Given the description of an element on the screen output the (x, y) to click on. 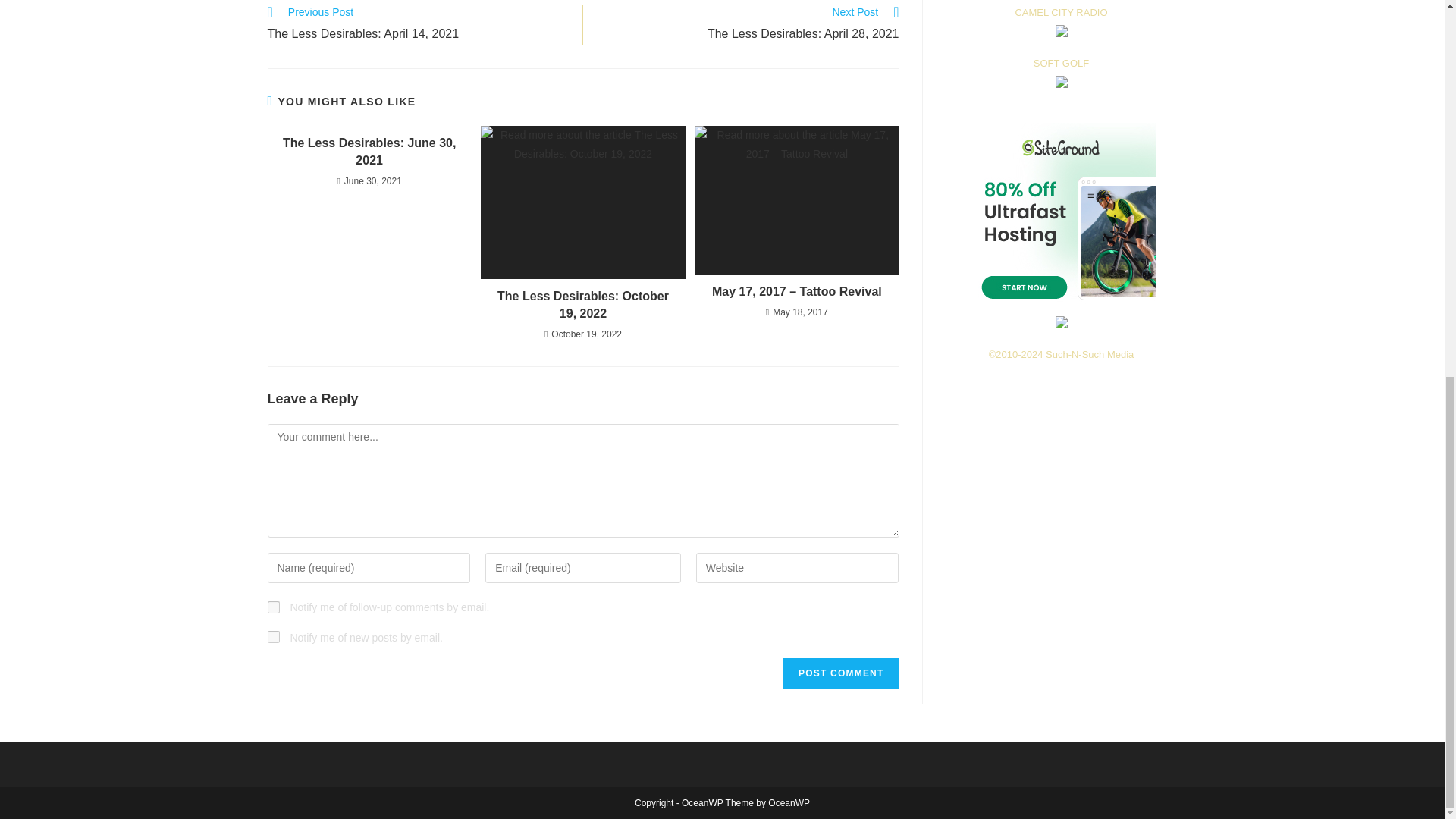
The Less Desirables: October 19, 2022 (582, 305)
subscribe (272, 607)
Post Comment (416, 24)
Post Comment (840, 673)
subscribe (748, 24)
The Less Desirables: June 30, 2021 (840, 673)
